Given the description of an element on the screen output the (x, y) to click on. 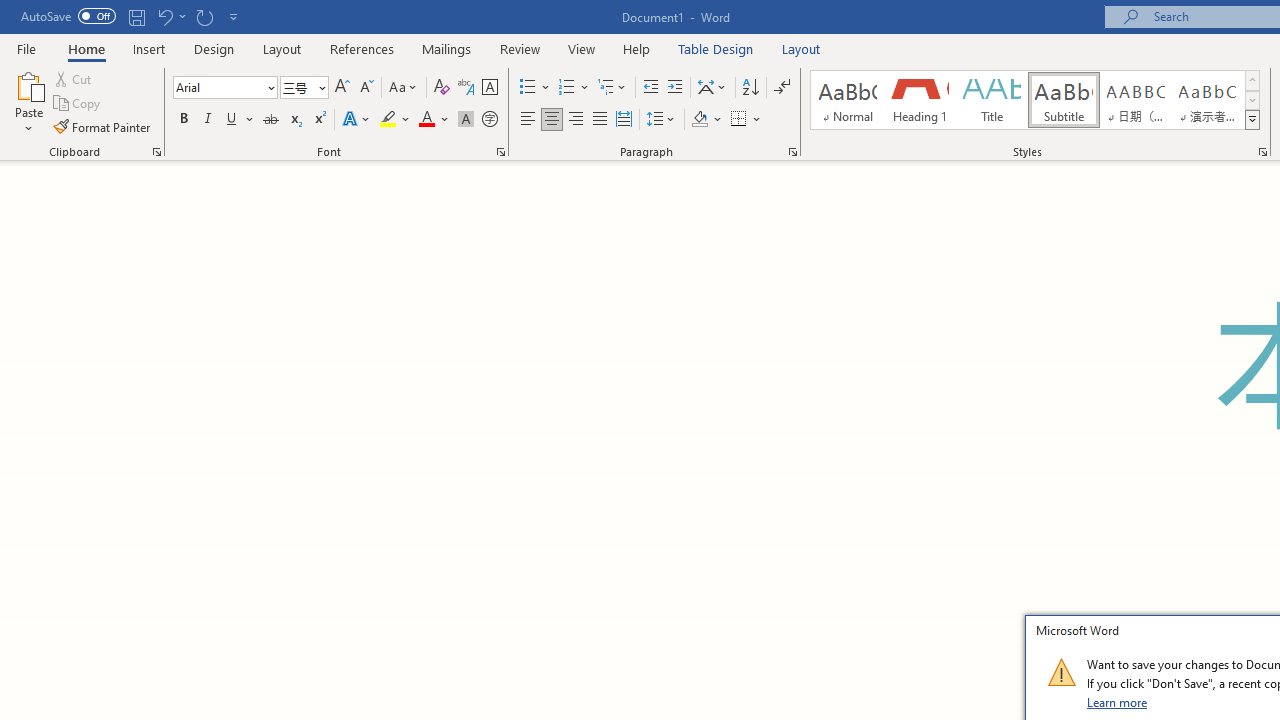
Subtitle (1063, 100)
Table Design (715, 48)
Center (552, 119)
Decrease Indent (650, 87)
Undo Paste (164, 15)
Show/Hide Editing Marks (781, 87)
Bold (183, 119)
Undo Paste (170, 15)
AutomationID: QuickStylesGallery (1035, 99)
